Given the description of an element on the screen output the (x, y) to click on. 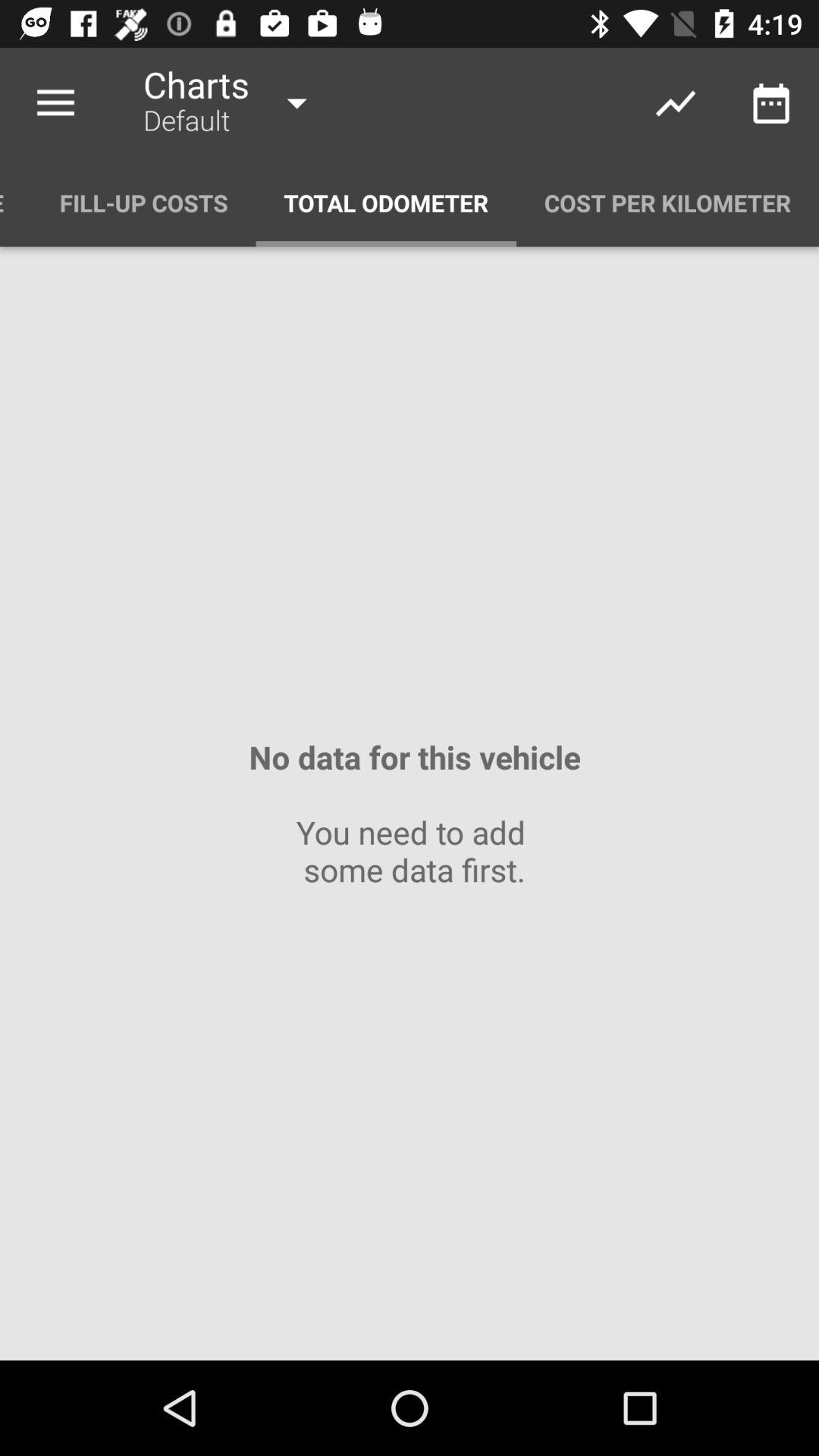
launch the item next to the fill-up costs icon (385, 202)
